Given the description of an element on the screen output the (x, y) to click on. 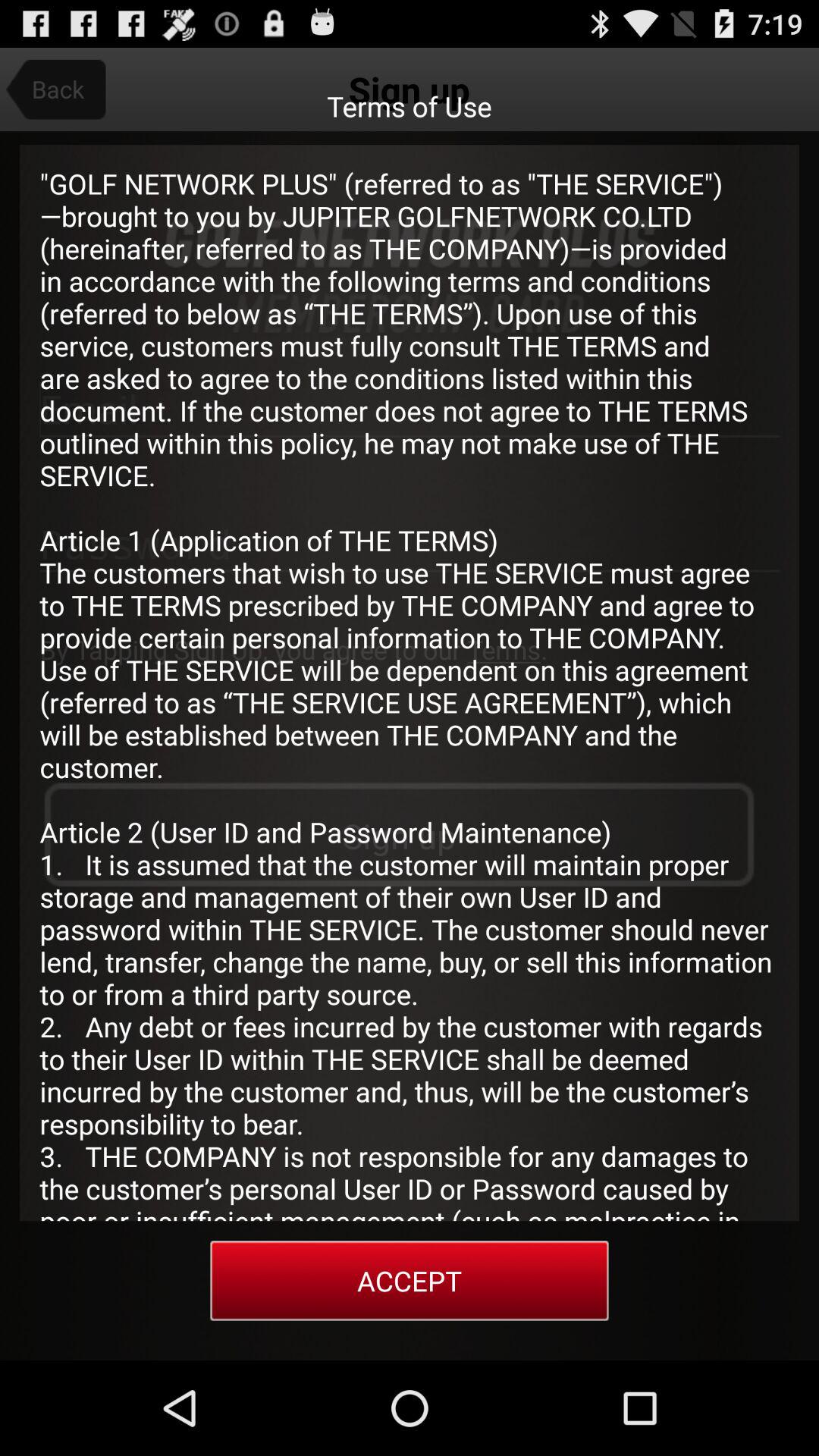
open the item at the bottom (409, 1280)
